Given the description of an element on the screen output the (x, y) to click on. 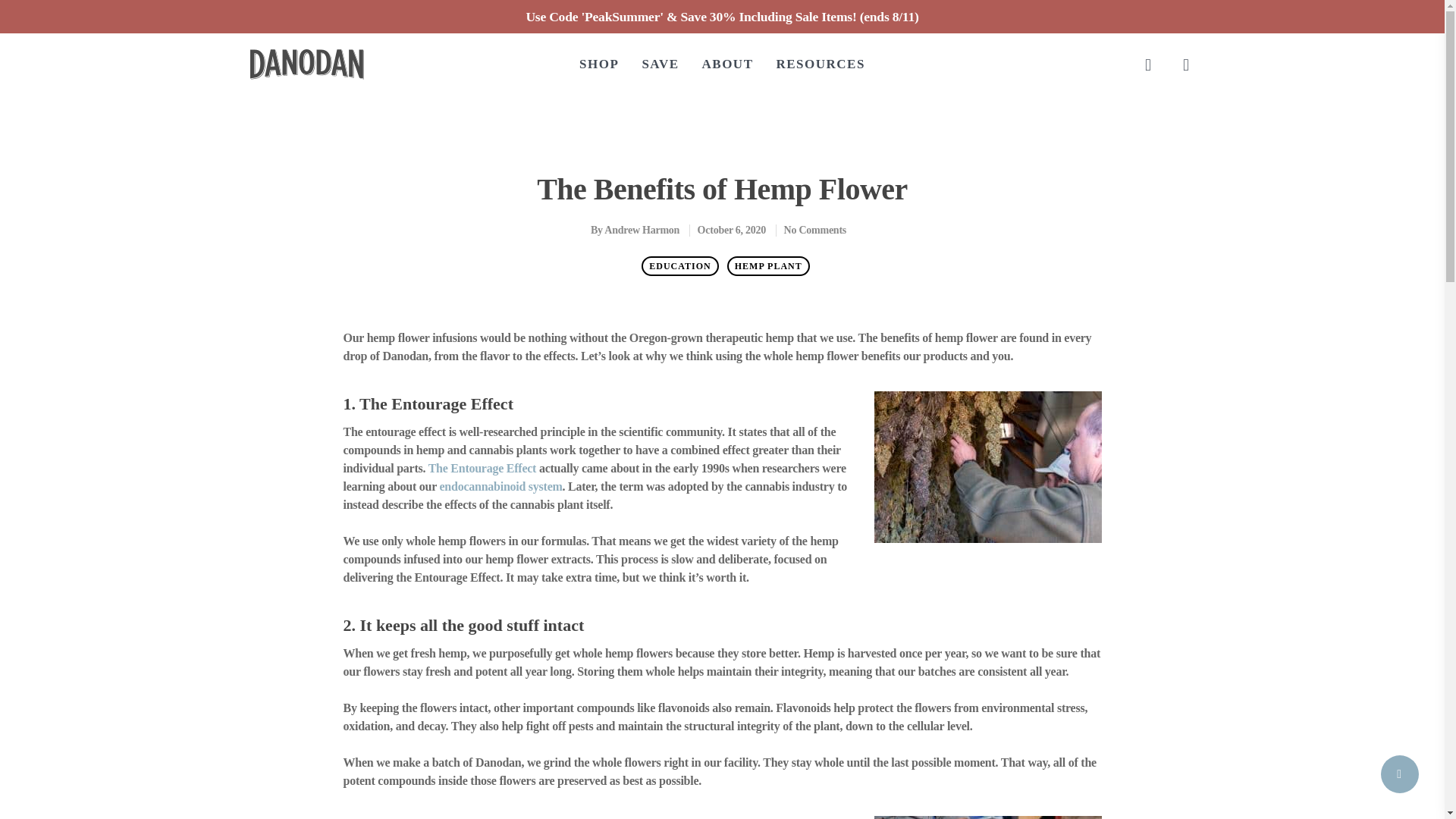
ABOUT (727, 64)
SAVE (660, 64)
Posts by Andrew Harmon (641, 229)
RESOURCES (820, 64)
SHOP (598, 64)
